Given the description of an element on the screen output the (x, y) to click on. 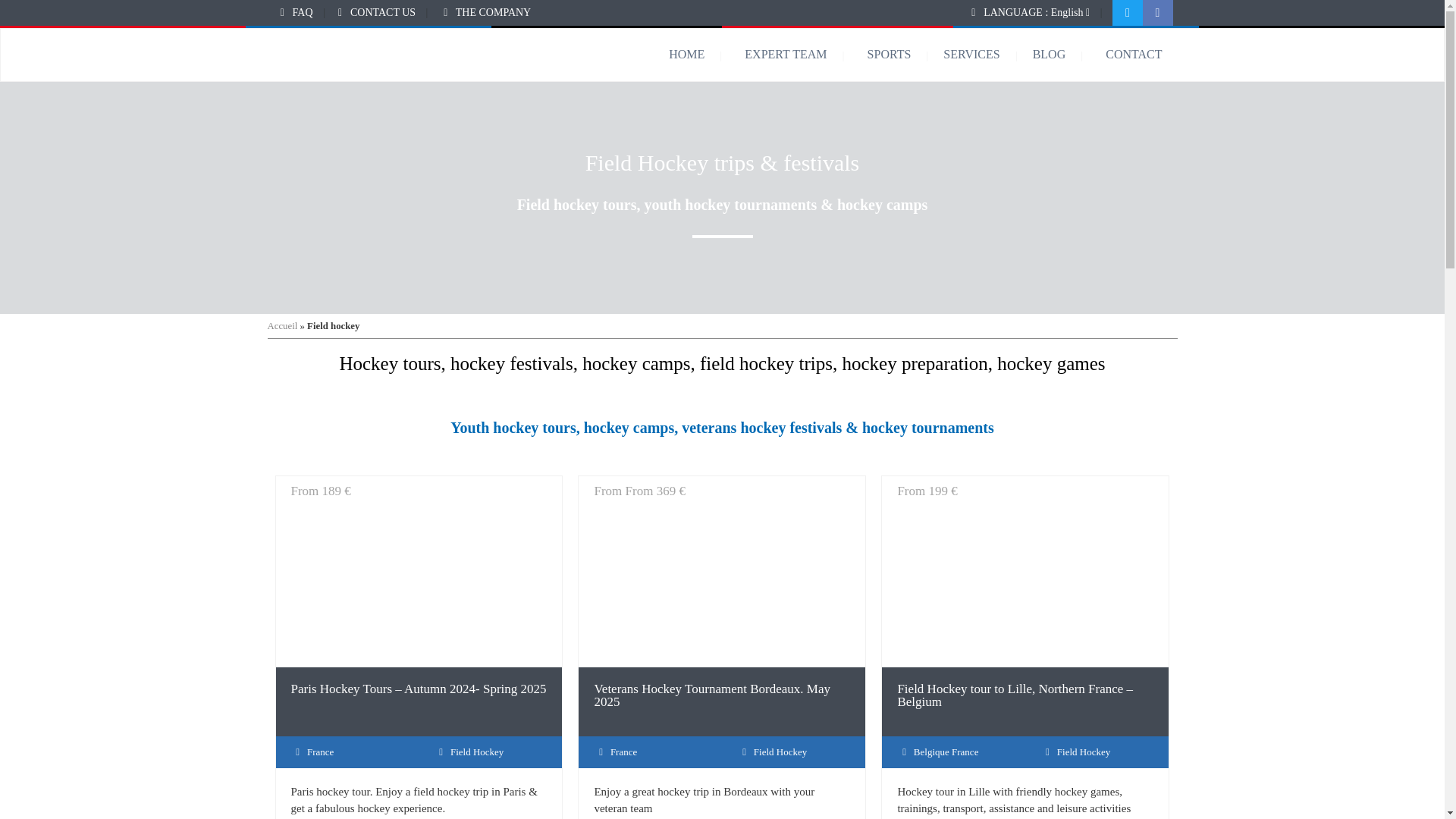
BLOG (1065, 54)
SPORTS (905, 54)
EXPERT TEAM (801, 54)
LANGUAGE : English (1036, 12)
CONTACT (1133, 54)
CONTACT US (382, 12)
SERVICES (987, 54)
HOME (702, 54)
FAQ (302, 12)
THE COMPANY (493, 12)
Accueil (281, 326)
